Given the description of an element on the screen output the (x, y) to click on. 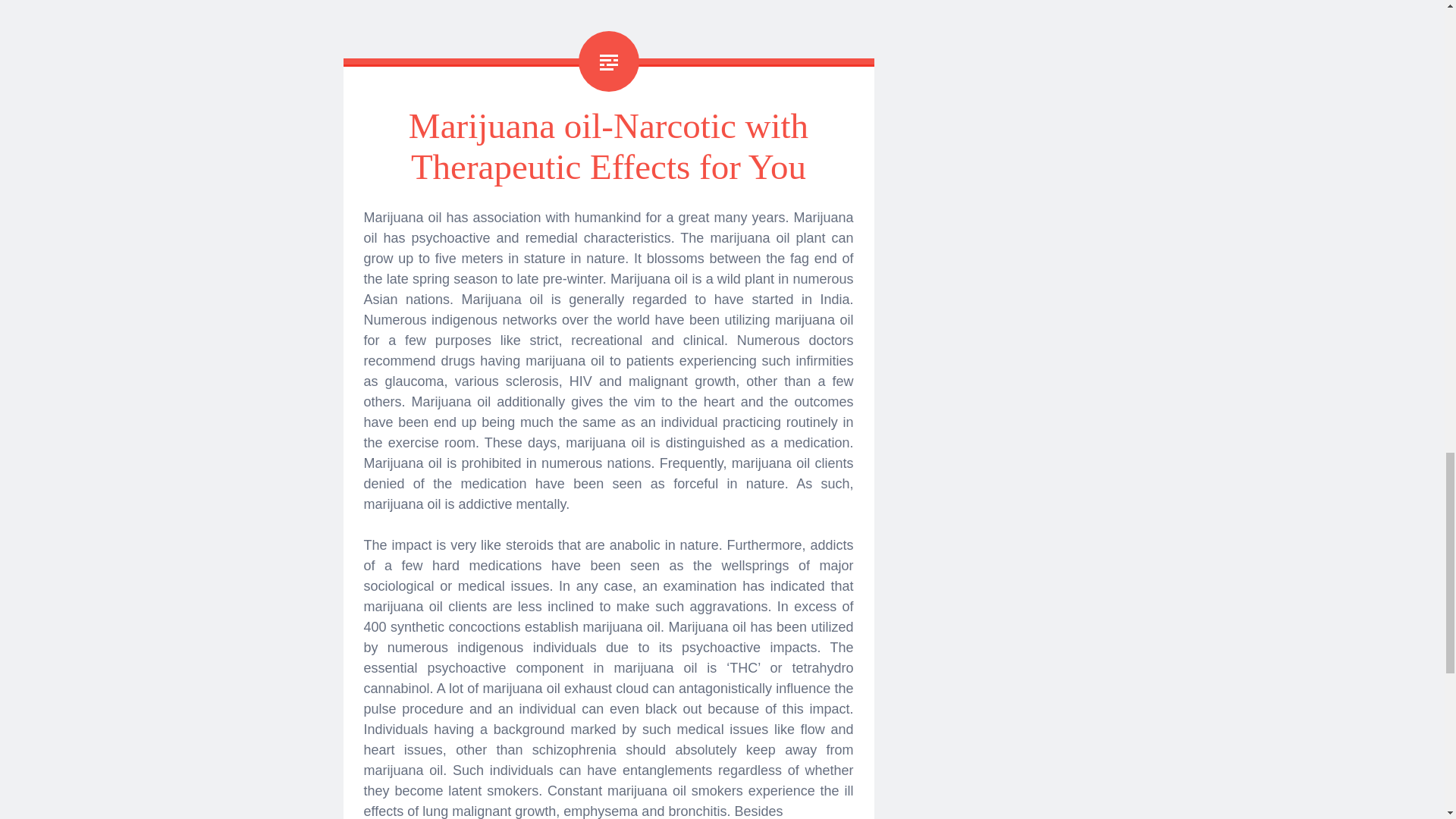
Marijuana oil-Narcotic with Therapeutic Effects for You (608, 146)
